Given the description of an element on the screen output the (x, y) to click on. 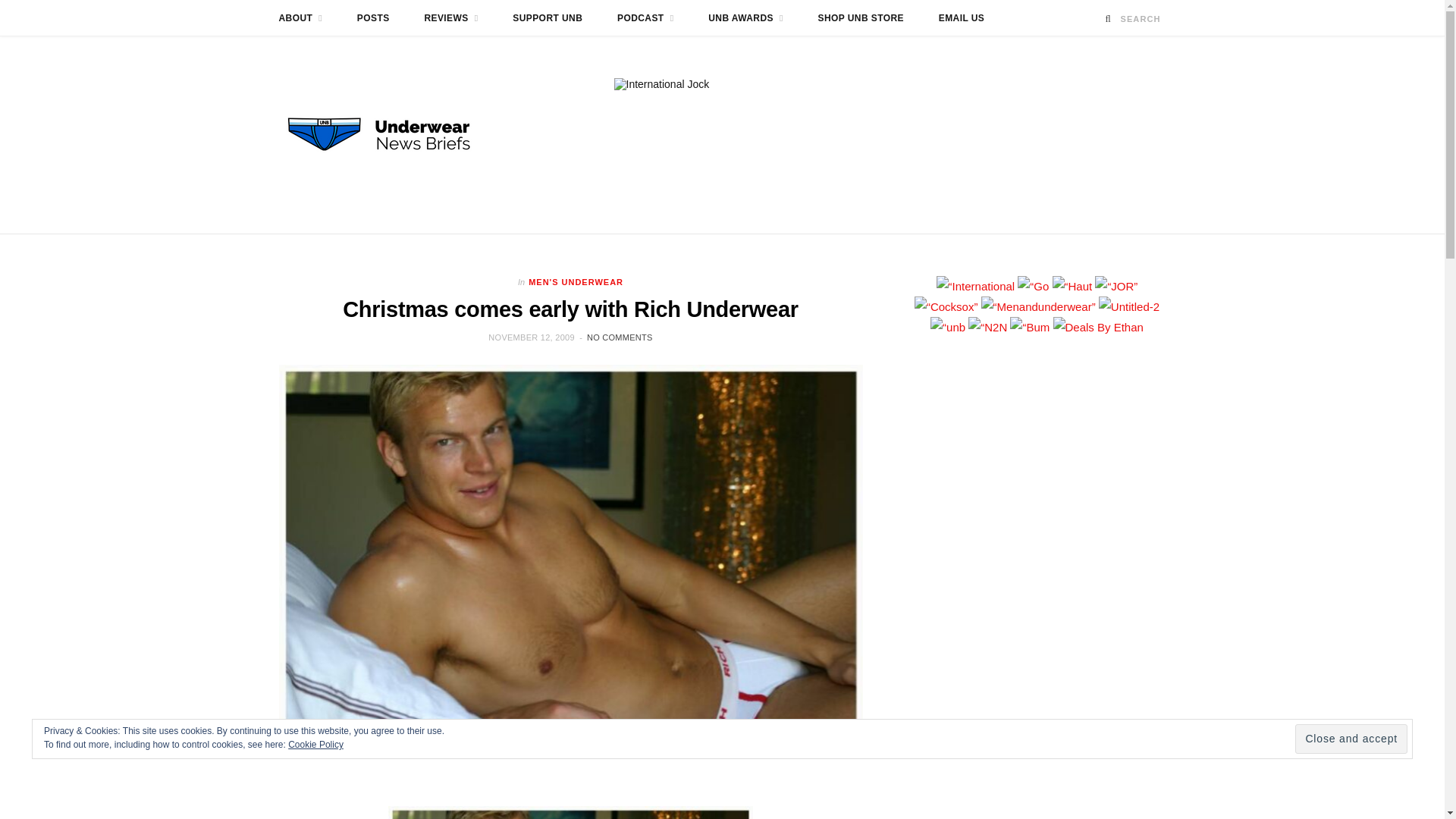
EMAIL US (961, 18)
PODCAST (644, 18)
SHOP UNB STORE (861, 18)
REVIEWS (450, 18)
POSTS (373, 18)
UNB AWARDS (746, 18)
SUPPORT UNB (547, 18)
ABOUT (299, 18)
Underwear News Briefs (392, 134)
Close and accept (1351, 738)
